Given the description of an element on the screen output the (x, y) to click on. 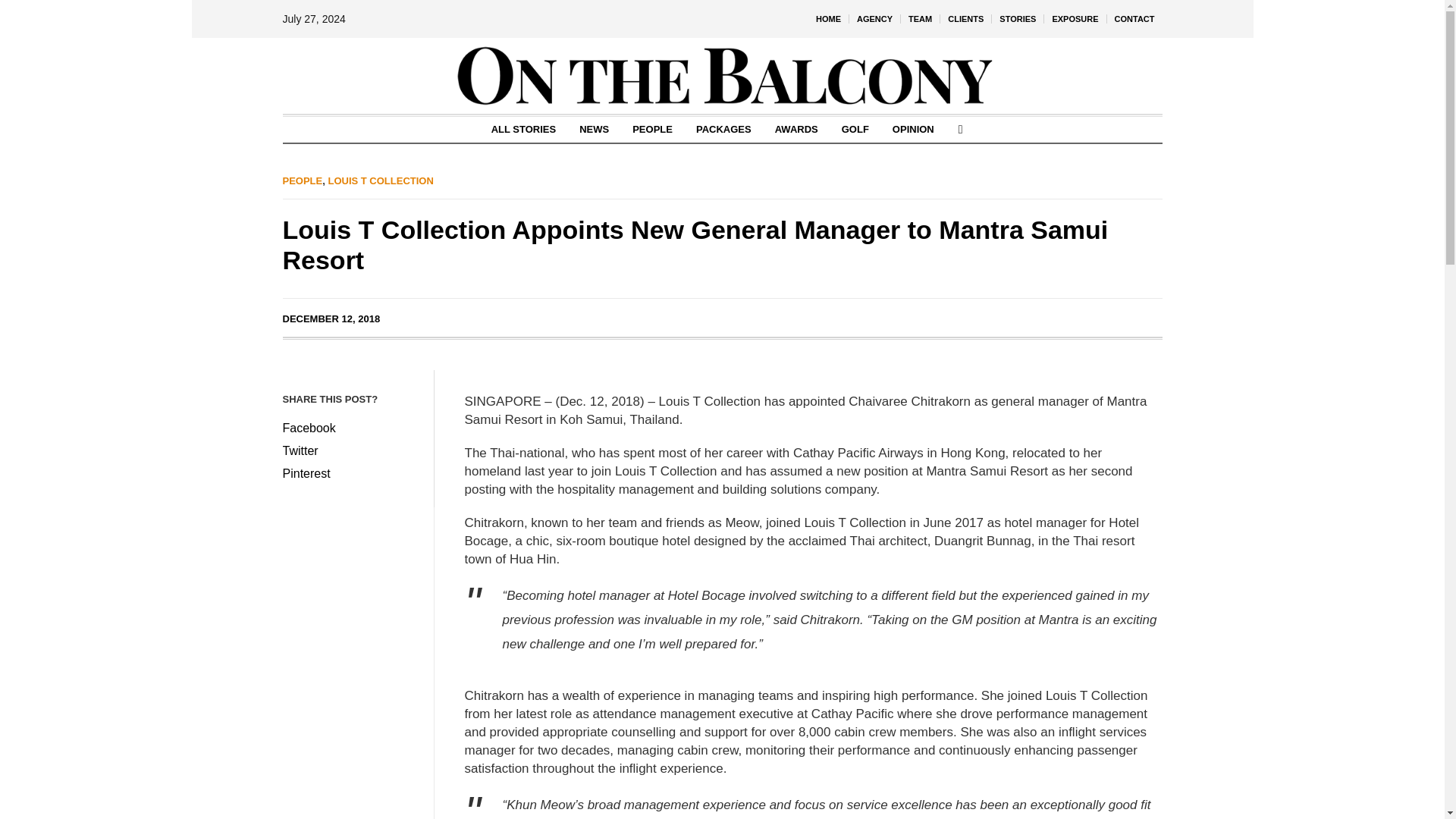
LOUIS T COLLECTION (379, 180)
CLIENTS (965, 18)
CONTACT (1133, 18)
NEWS (593, 129)
Pinterest (349, 473)
PEOPLE (301, 180)
PACKAGES (723, 129)
AGENCY (873, 18)
ALL STORIES (523, 129)
TEAM (920, 18)
EXPOSURE (1074, 18)
Twitter (349, 450)
December 12, 2018 (331, 318)
Facebook (349, 427)
AWARDS (795, 129)
